Given the description of an element on the screen output the (x, y) to click on. 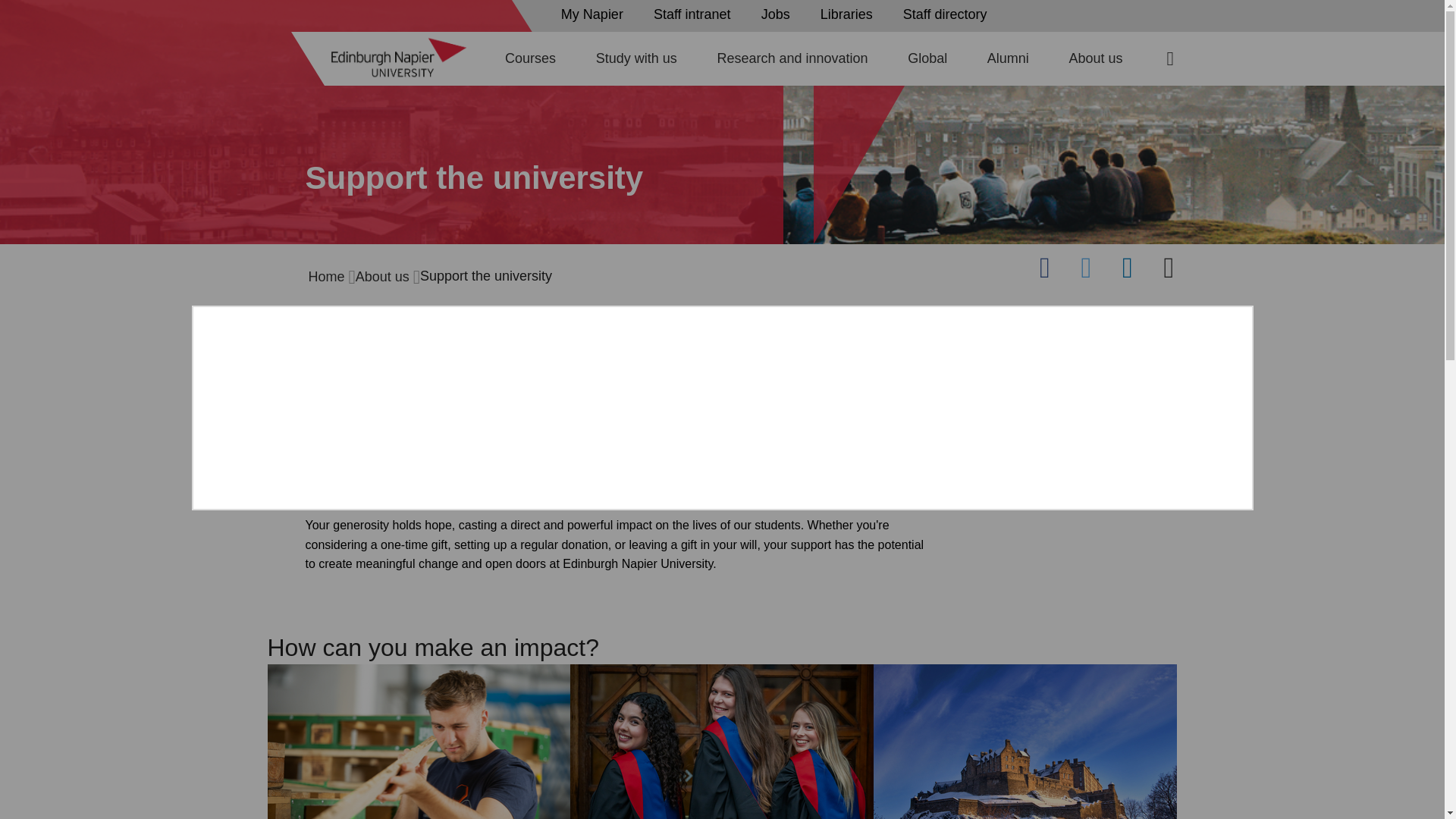
People  (850, 14)
Courses (530, 58)
Study with us (636, 58)
Libraries (850, 14)
Staff directory (949, 14)
Jobs (779, 14)
My Napier (596, 14)
Staff intranet (695, 14)
